Given the description of an element on the screen output the (x, y) to click on. 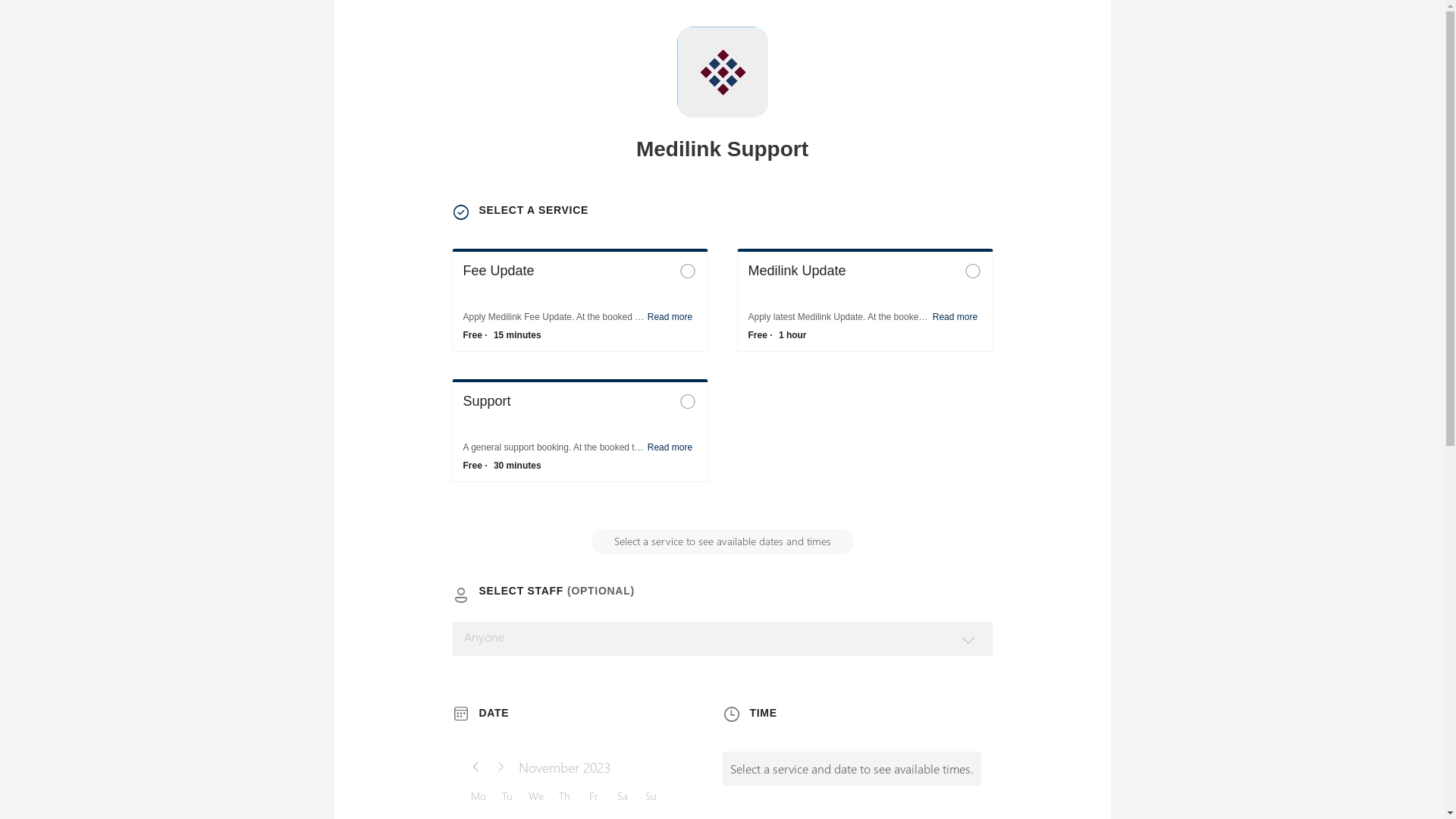
Read more Element type: text (954, 316)
Previous month - Not available Element type: hover (476, 767)
Read more Element type: text (669, 447)
Next month Element type: hover (500, 767)
Medilink Support Element type: hover (721, 71)
Read more Element type: text (669, 316)
Anyone Element type: text (722, 639)
